Given the description of an element on the screen output the (x, y) to click on. 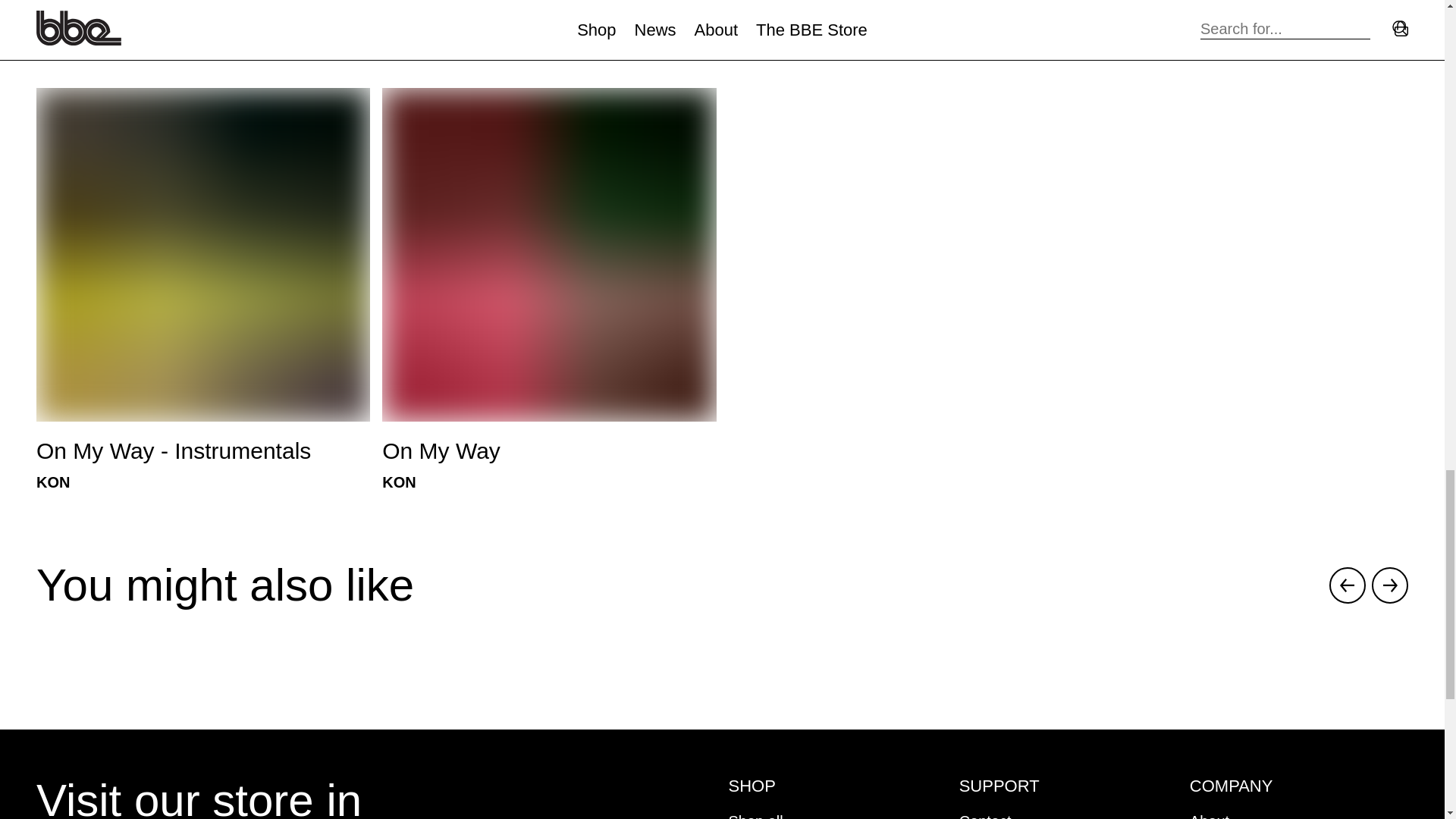
About (1208, 816)
bbe241cover.jpg (548, 254)
Contact (202, 19)
Shop all (985, 816)
